Given the description of an element on the screen output the (x, y) to click on. 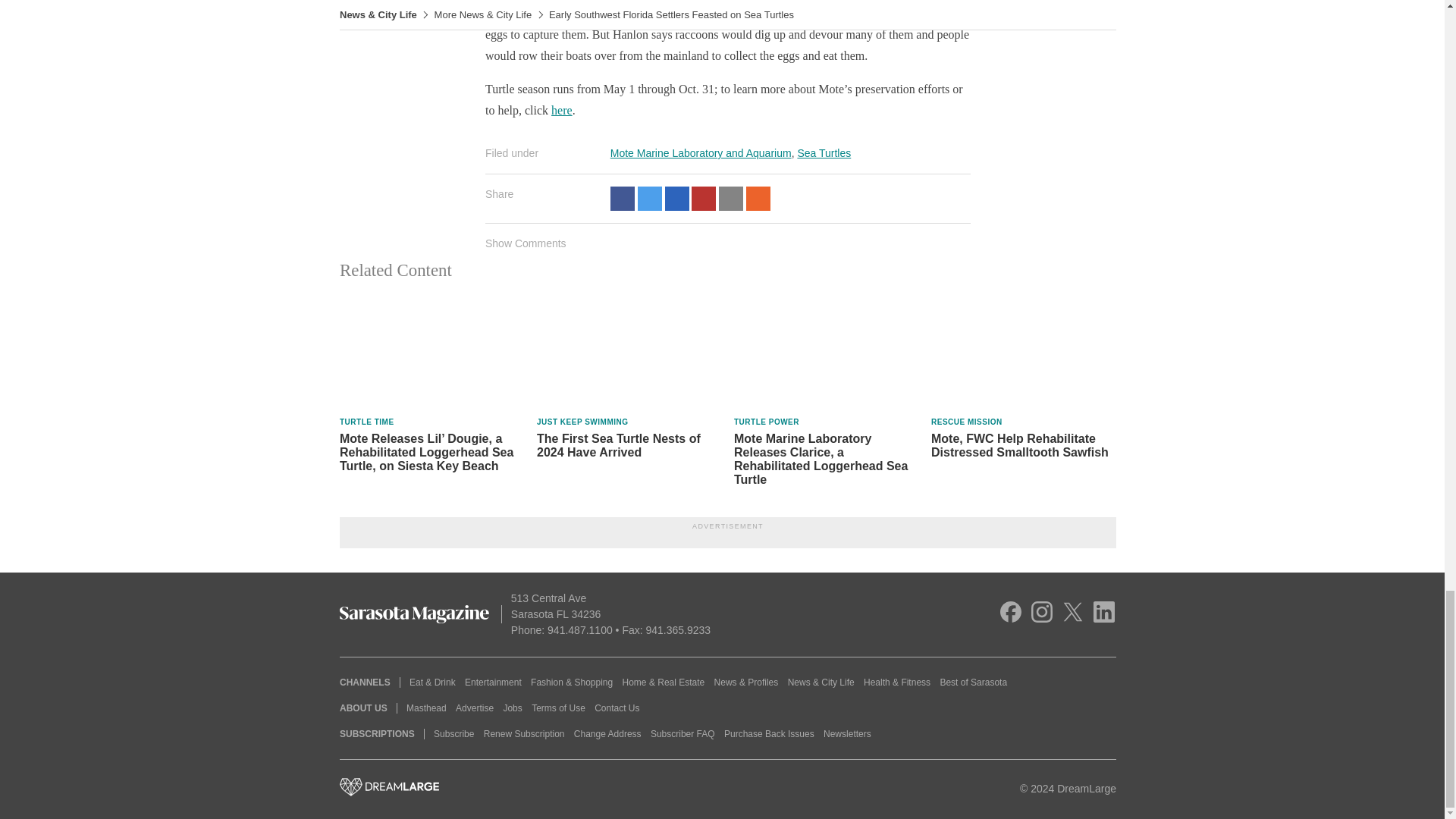
Share on Reddit (757, 198)
Share on Twitter (649, 198)
Share on LinkedIn (675, 198)
Share via Email (730, 198)
Share on Pinterest (703, 198)
Share on Facebook (622, 198)
